Given the description of an element on the screen output the (x, y) to click on. 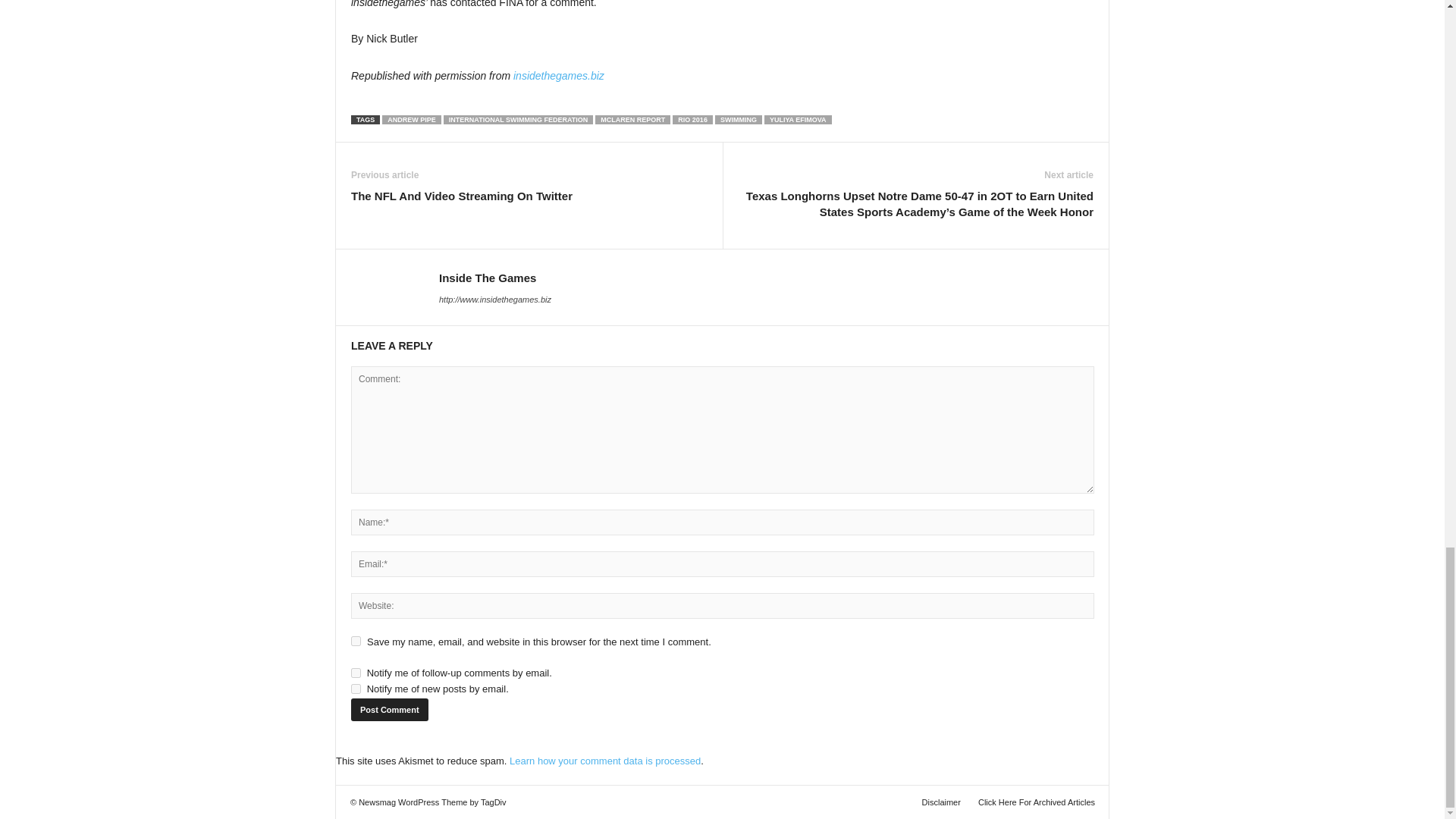
subscribe (355, 688)
yes (355, 641)
Post Comment (389, 709)
subscribe (355, 673)
